Given the description of an element on the screen output the (x, y) to click on. 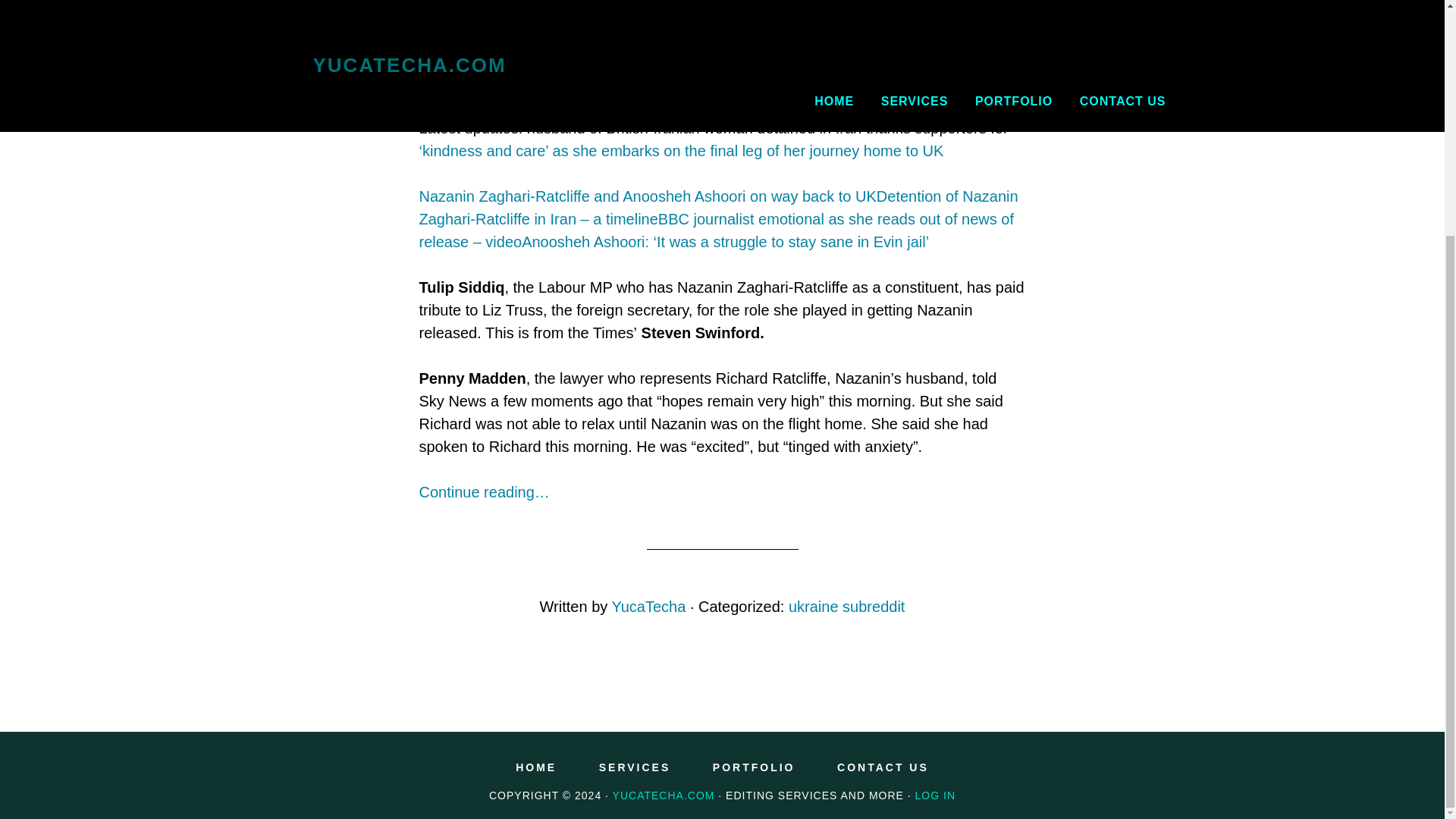
SERVICES (634, 766)
YucaTecha (648, 606)
YUCATECHA.COM (663, 795)
PORTFOLIO (753, 766)
LOG IN (935, 795)
ukraine subreddit (846, 606)
HOME (535, 766)
CONTACT US (882, 766)
